Given the description of an element on the screen output the (x, y) to click on. 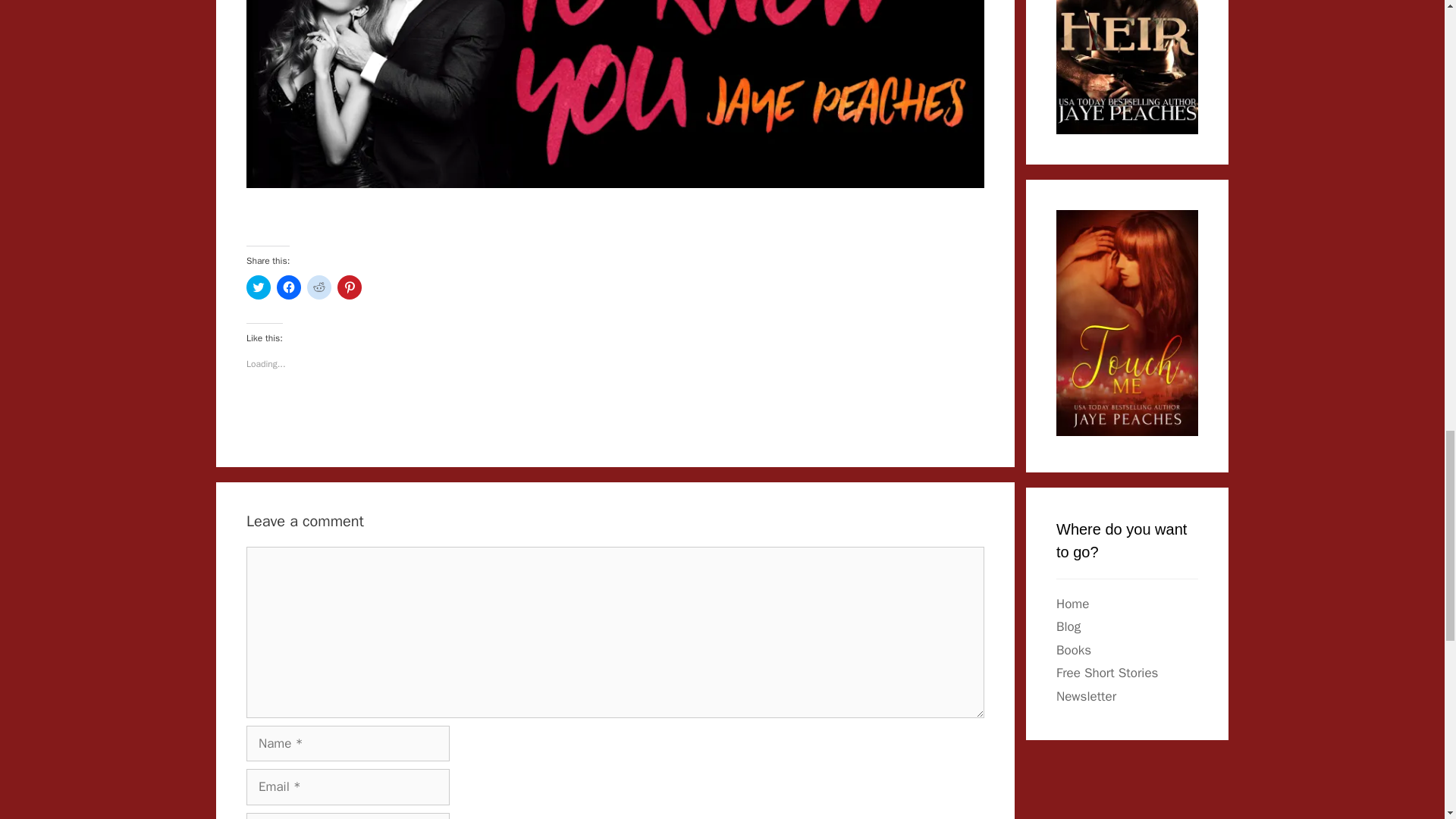
Click to share on Twitter (258, 287)
Like or Reblog (615, 415)
Click to share on Pinterest (349, 287)
Click to share on Reddit (319, 287)
Click to share on Facebook (288, 287)
